Given the description of an element on the screen output the (x, y) to click on. 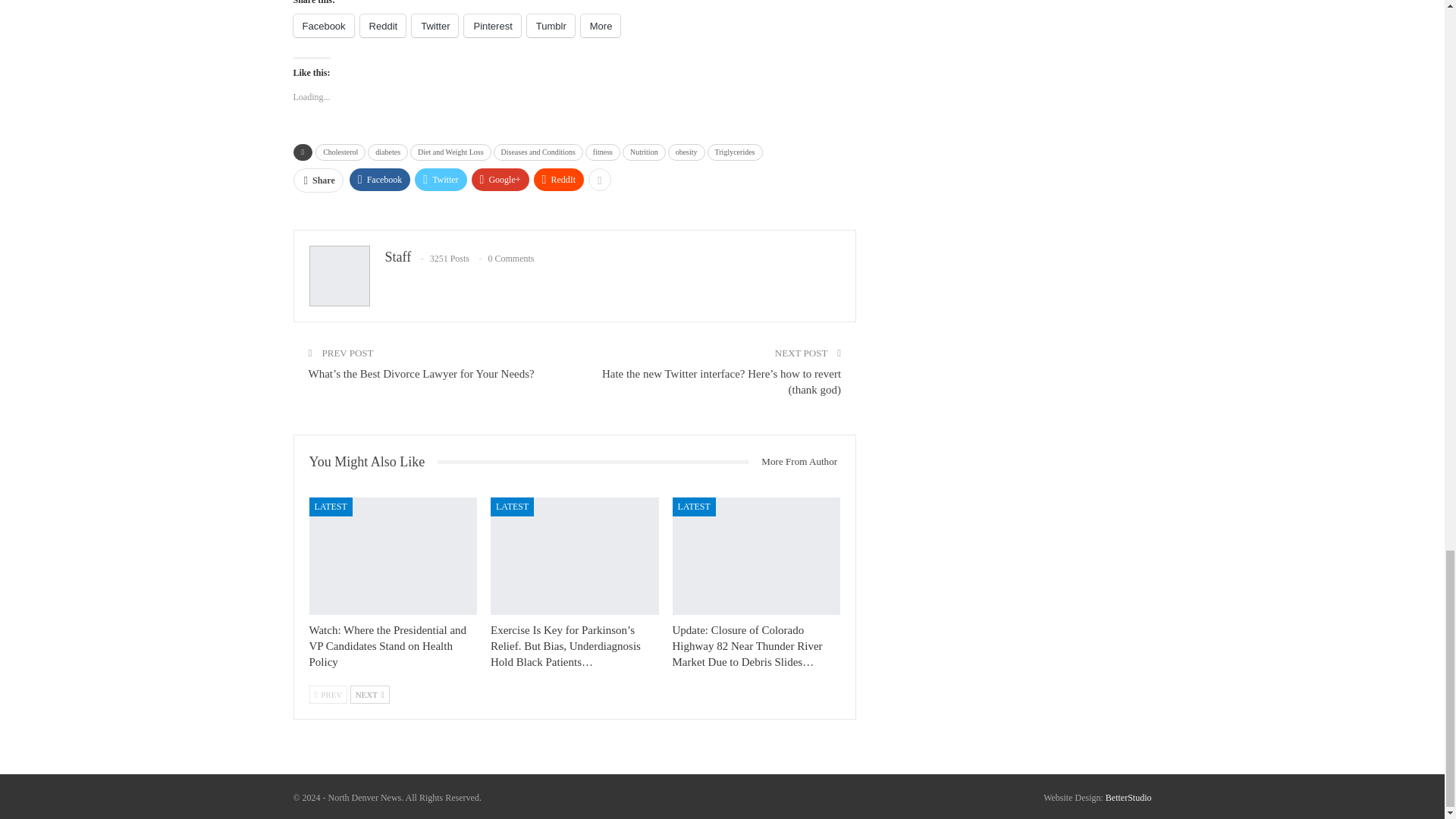
Click to share on Twitter (435, 25)
Cholesterol (340, 152)
Reddit (382, 25)
Click to share on Reddit (382, 25)
More (600, 25)
Facebook (322, 25)
Twitter (435, 25)
Click to share on Facebook (322, 25)
Click to share on Tumblr (551, 25)
